Given the description of an element on the screen output the (x, y) to click on. 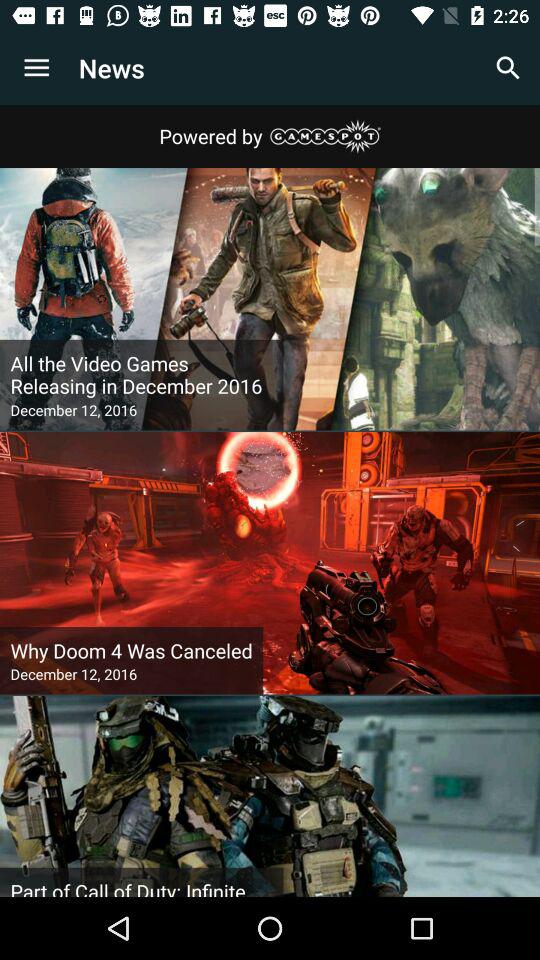
press why doom 4 (131, 650)
